Given the description of an element on the screen output the (x, y) to click on. 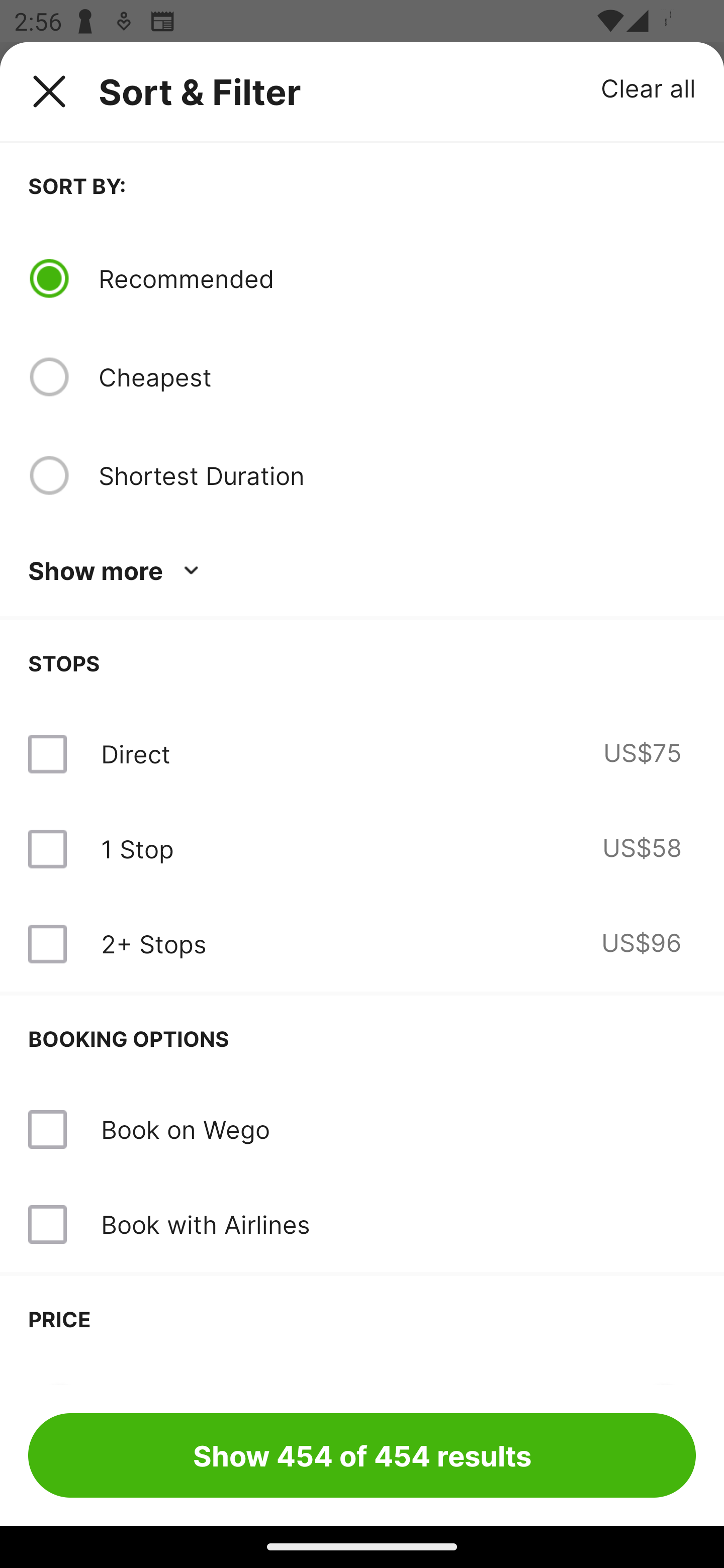
Clear all (648, 87)
Recommended  (396, 278)
Cheapest (396, 377)
Shortest Duration (396, 474)
Show more (116, 570)
Direct US$75 (362, 754)
Direct (135, 753)
1 Stop US$58 (362, 848)
1 Stop (136, 849)
2+ Stops US$96 (362, 943)
2+ Stops (153, 943)
Book on Wego (362, 1129)
Book on Wego (184, 1128)
Book with Airlines (362, 1224)
Book with Airlines (204, 1224)
Show 454 of 454 results (361, 1454)
